Given the description of an element on the screen output the (x, y) to click on. 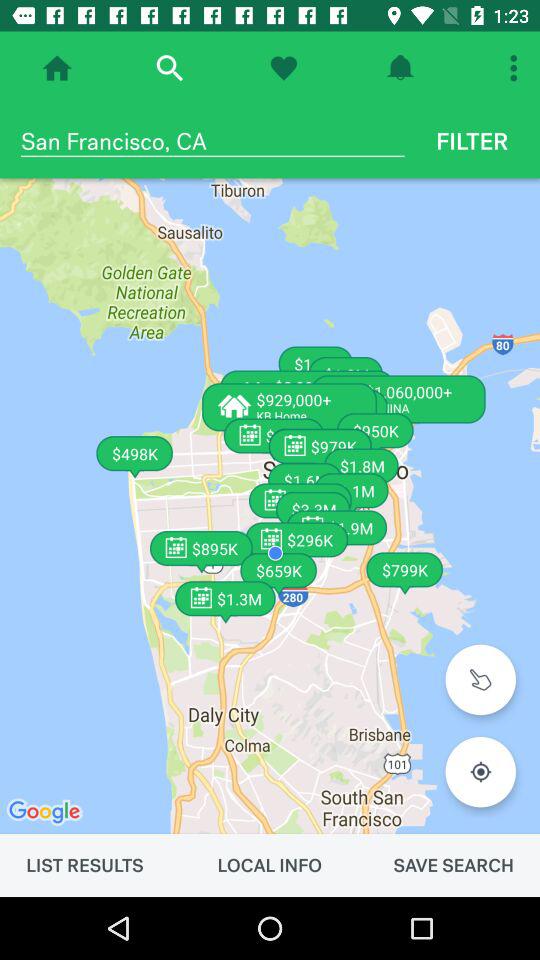
search the place (169, 68)
